Given the description of an element on the screen output the (x, y) to click on. 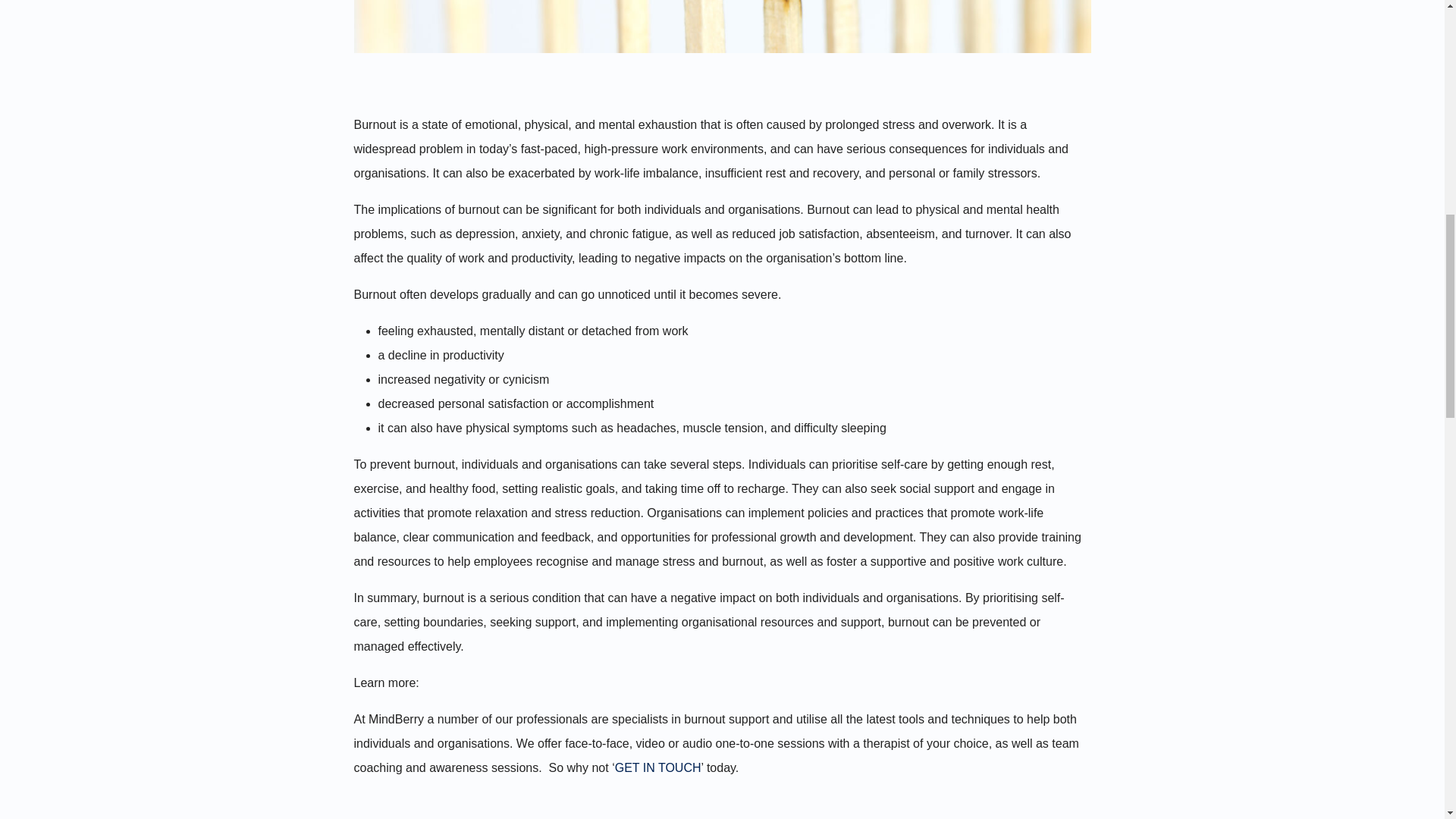
GET IN TOUCH (657, 767)
